Given the description of an element on the screen output the (x, y) to click on. 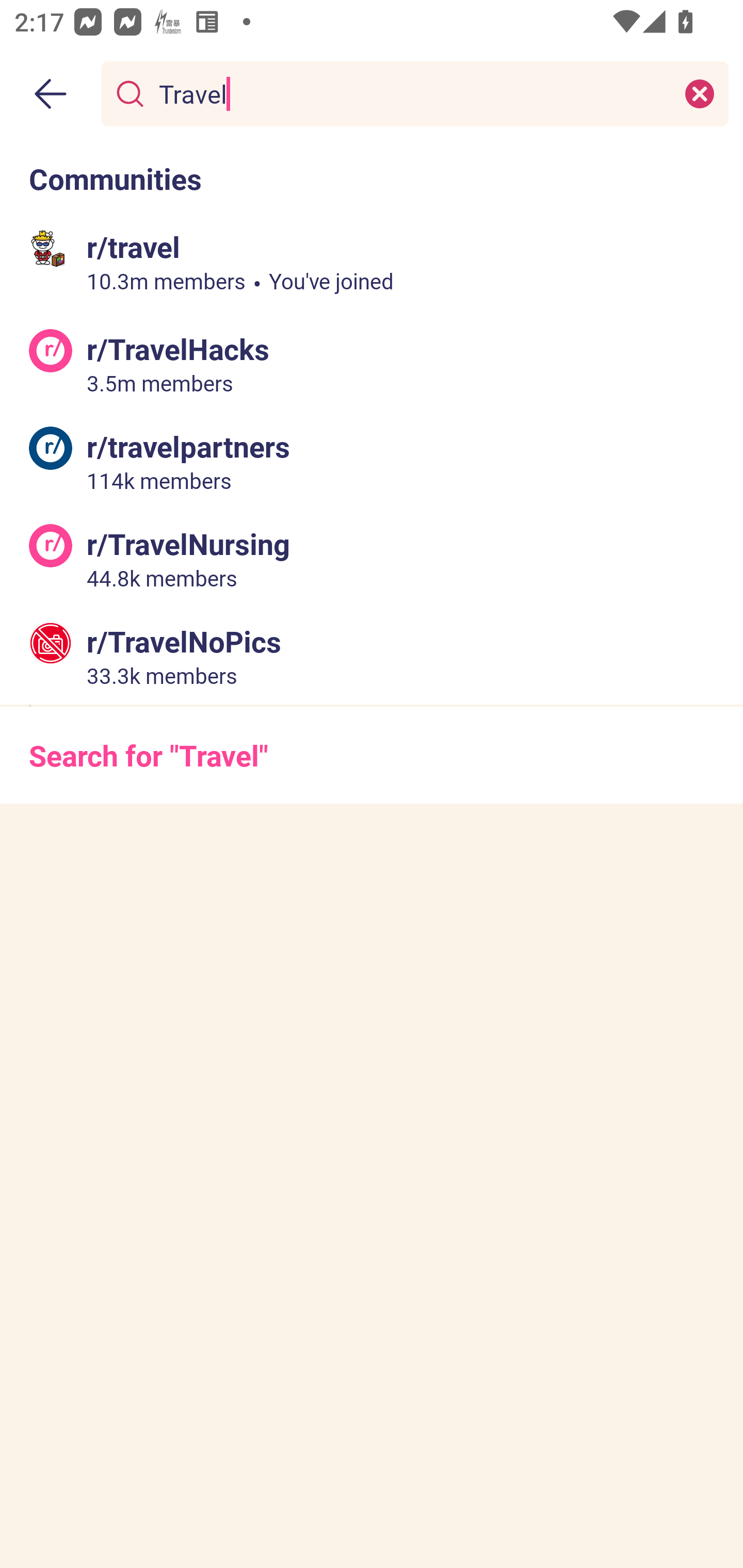
Back (50, 93)
Travel (410, 93)
Clear search (699, 93)
r/TravelHacks 3.5m members 3.5 million members (371, 363)
r/travelpartners 114k members 114 thousand members (371, 460)
r/TravelNoPics 33.3k members 33.3 thousand members (371, 655)
Search for "Travel" (371, 754)
